Given the description of an element on the screen output the (x, y) to click on. 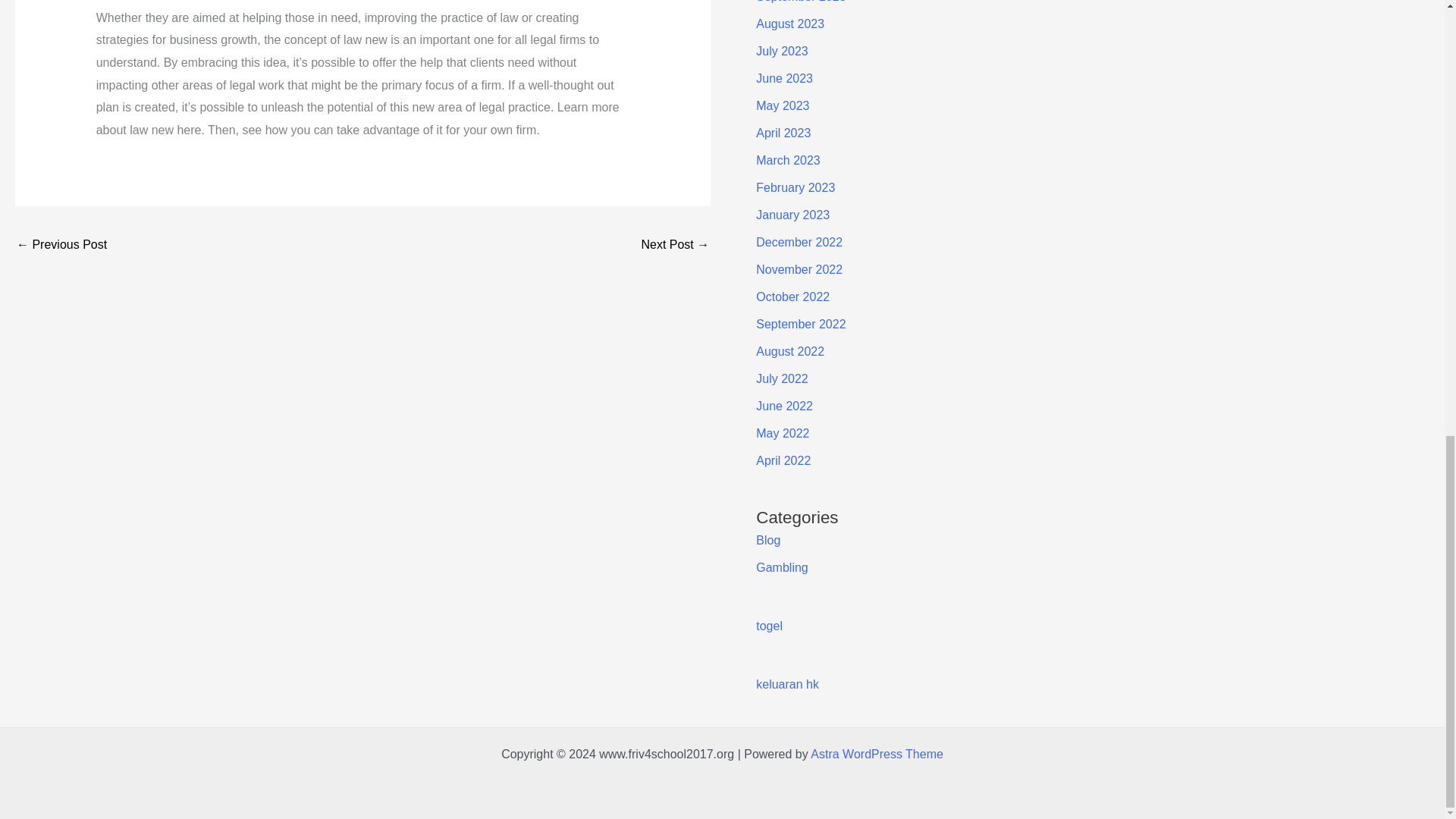
August 2023 (789, 23)
December 2022 (799, 241)
January 2023 (792, 214)
June 2023 (783, 78)
February 2023 (794, 187)
September 2023 (800, 1)
March 2023 (788, 160)
May 2023 (782, 105)
October 2022 (792, 296)
10 Slot Demo PG Terbaik: Bermain Gratis dan Anti Lag (674, 245)
November 2022 (799, 269)
The Basics of Poker (61, 245)
April 2023 (782, 132)
July 2023 (781, 51)
